Given the description of an element on the screen output the (x, y) to click on. 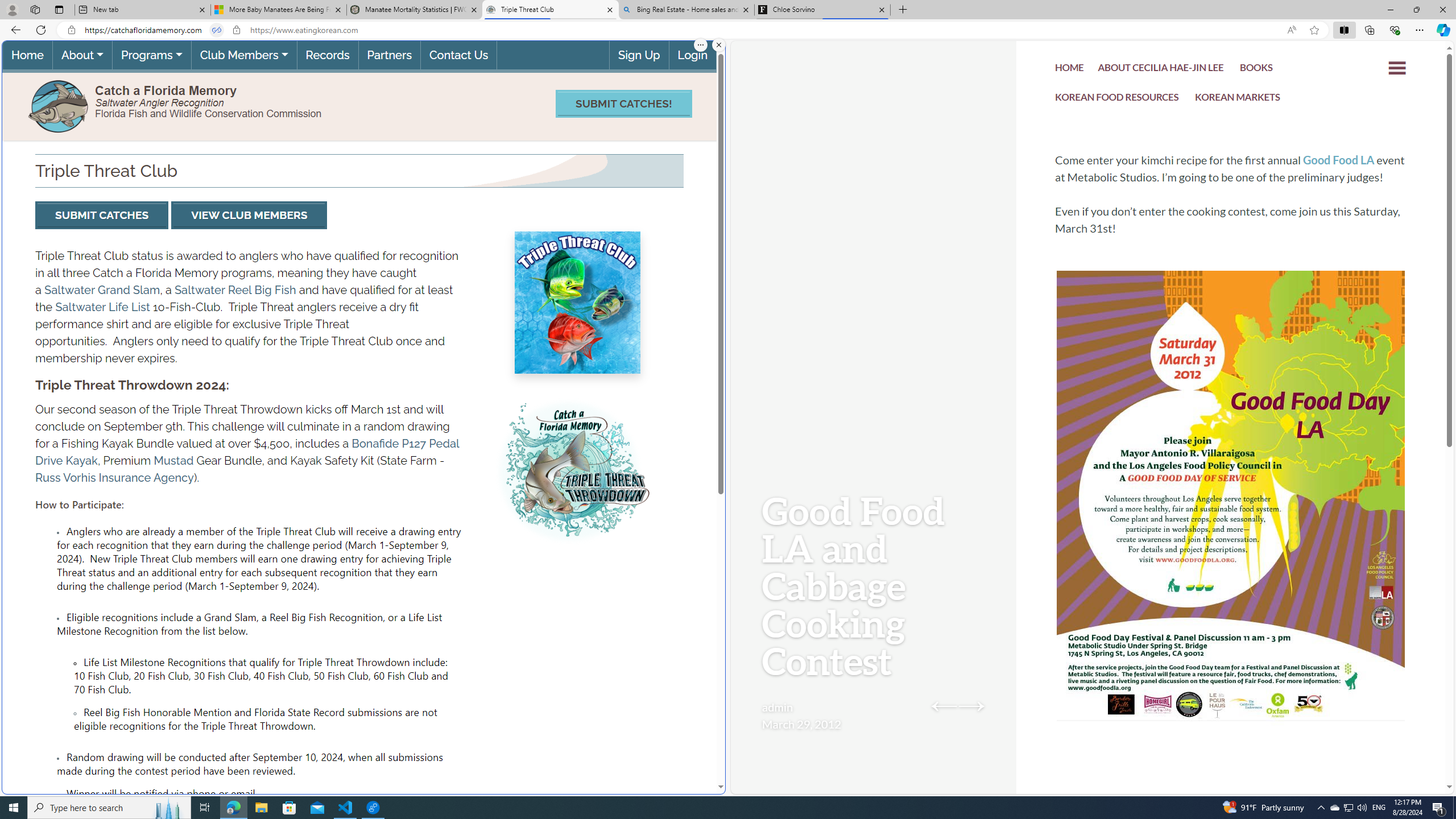
good food la poster (1231, 530)
Login (692, 54)
Tabs in split screen (216, 29)
Programs (151, 54)
Programs (151, 54)
Collections (1369, 29)
Bing Real Estate - Home sales and rental listings (685, 9)
Add this page to favorites (Ctrl+D) (1314, 29)
